Given the description of an element on the screen output the (x, y) to click on. 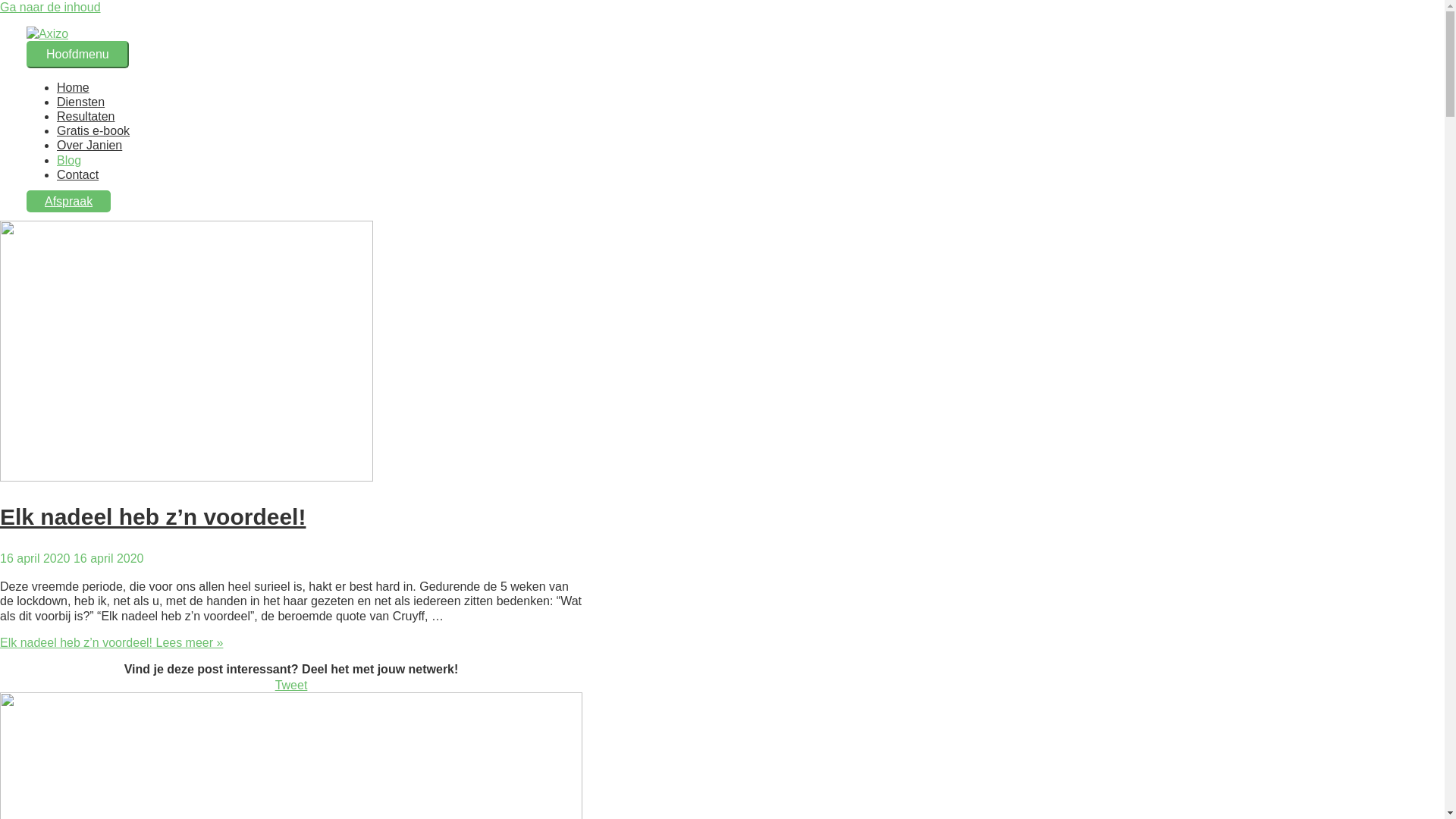
Home Element type: text (72, 87)
Ga naar de inhoud Element type: text (50, 6)
Diensten Element type: text (80, 101)
Gratis e-book Element type: text (92, 130)
Resultaten Element type: text (85, 115)
Over Janien Element type: text (89, 144)
Hoofdmenu Element type: text (77, 53)
Blog Element type: text (68, 159)
Contact Element type: text (77, 174)
Tweet Element type: text (291, 684)
Afspraak Element type: text (68, 201)
